Given the description of an element on the screen output the (x, y) to click on. 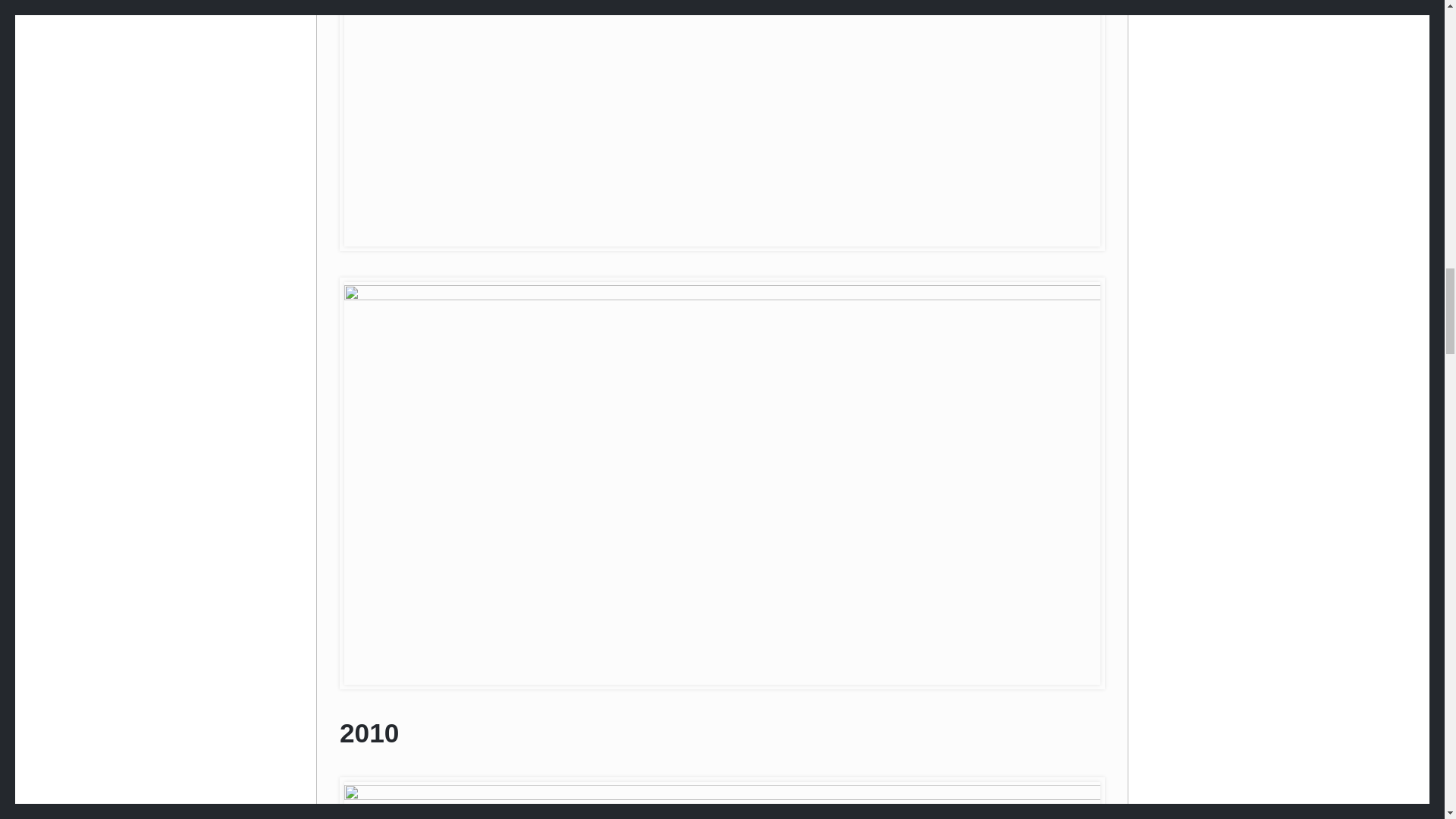
6 (721, 800)
